Given the description of an element on the screen output the (x, y) to click on. 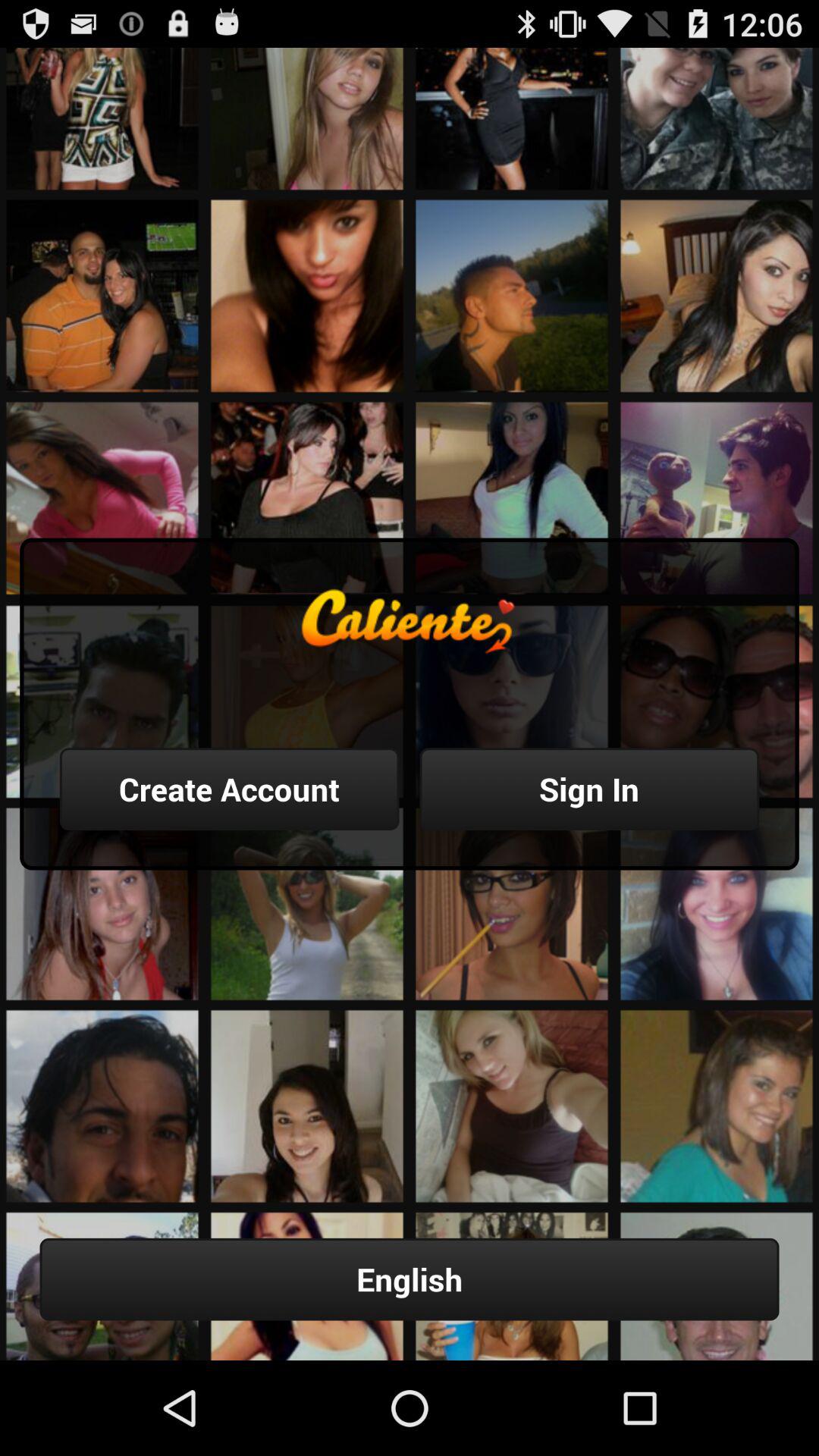
launch button at the bottom (409, 1279)
